Given the description of an element on the screen output the (x, y) to click on. 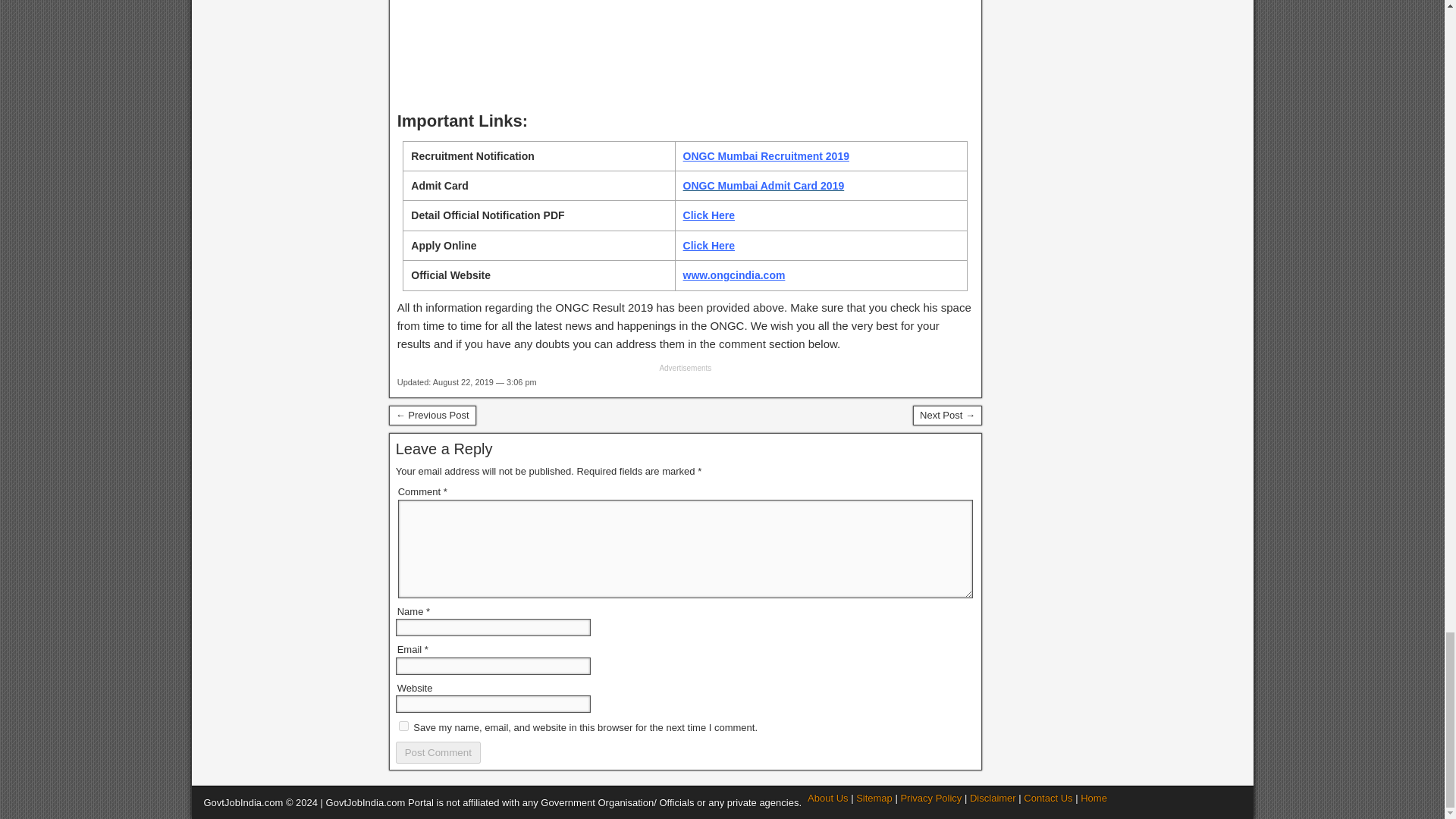
ONGC Mumbai Admit Card 2019 (763, 185)
Post Comment (438, 752)
Click Here (708, 245)
yes (403, 726)
www.ongcindia.com (734, 275)
Click Here (708, 215)
Post Comment (438, 752)
ONGC Mumbai Recruitment 2019 (765, 155)
